Given the description of an element on the screen output the (x, y) to click on. 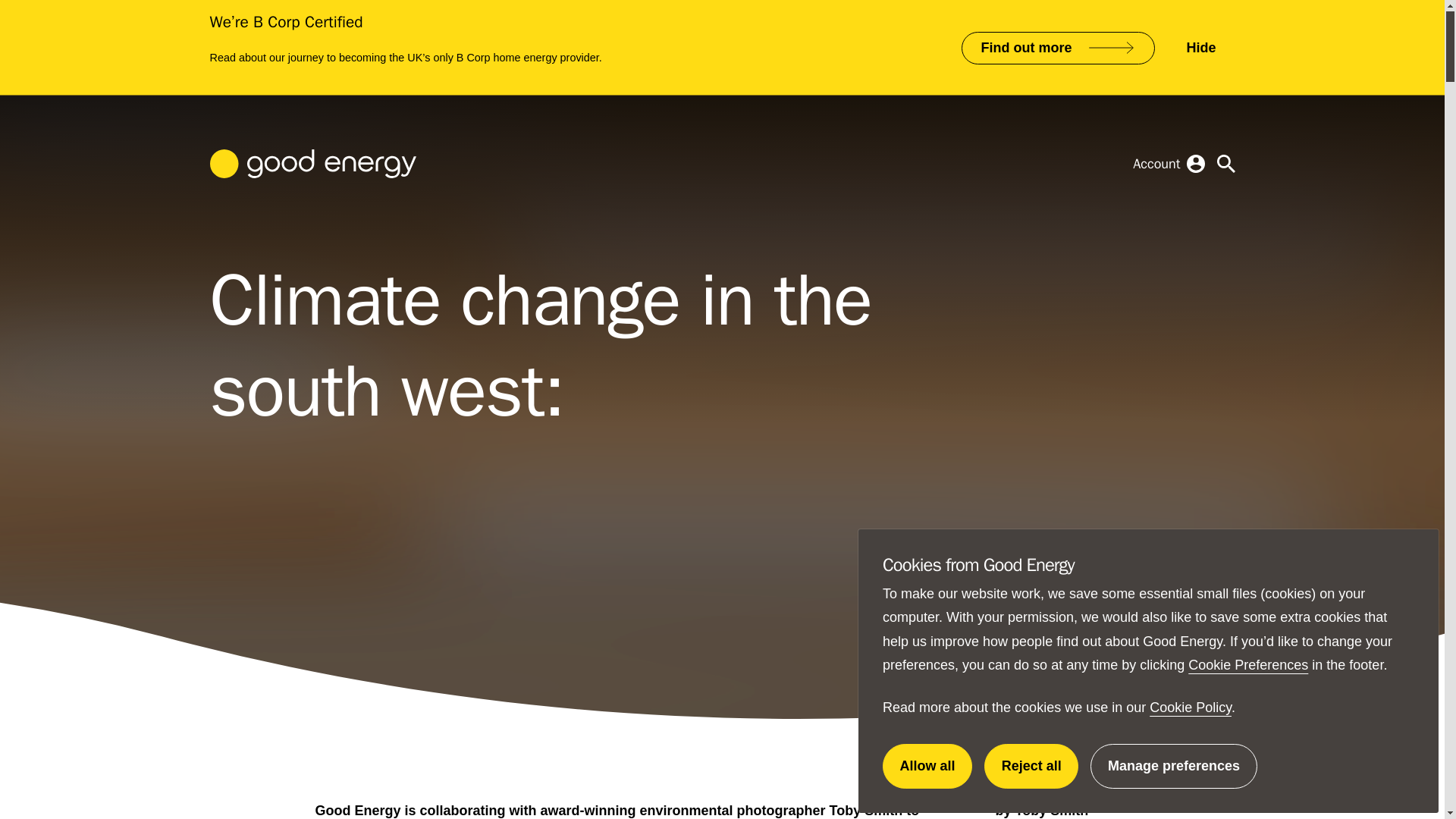
Search the site (1031, 765)
Account (1224, 163)
Cookie Policy (1168, 164)
Toby Smith (1190, 707)
Cookie Preferences (1200, 47)
Find out more (865, 810)
